Given the description of an element on the screen output the (x, y) to click on. 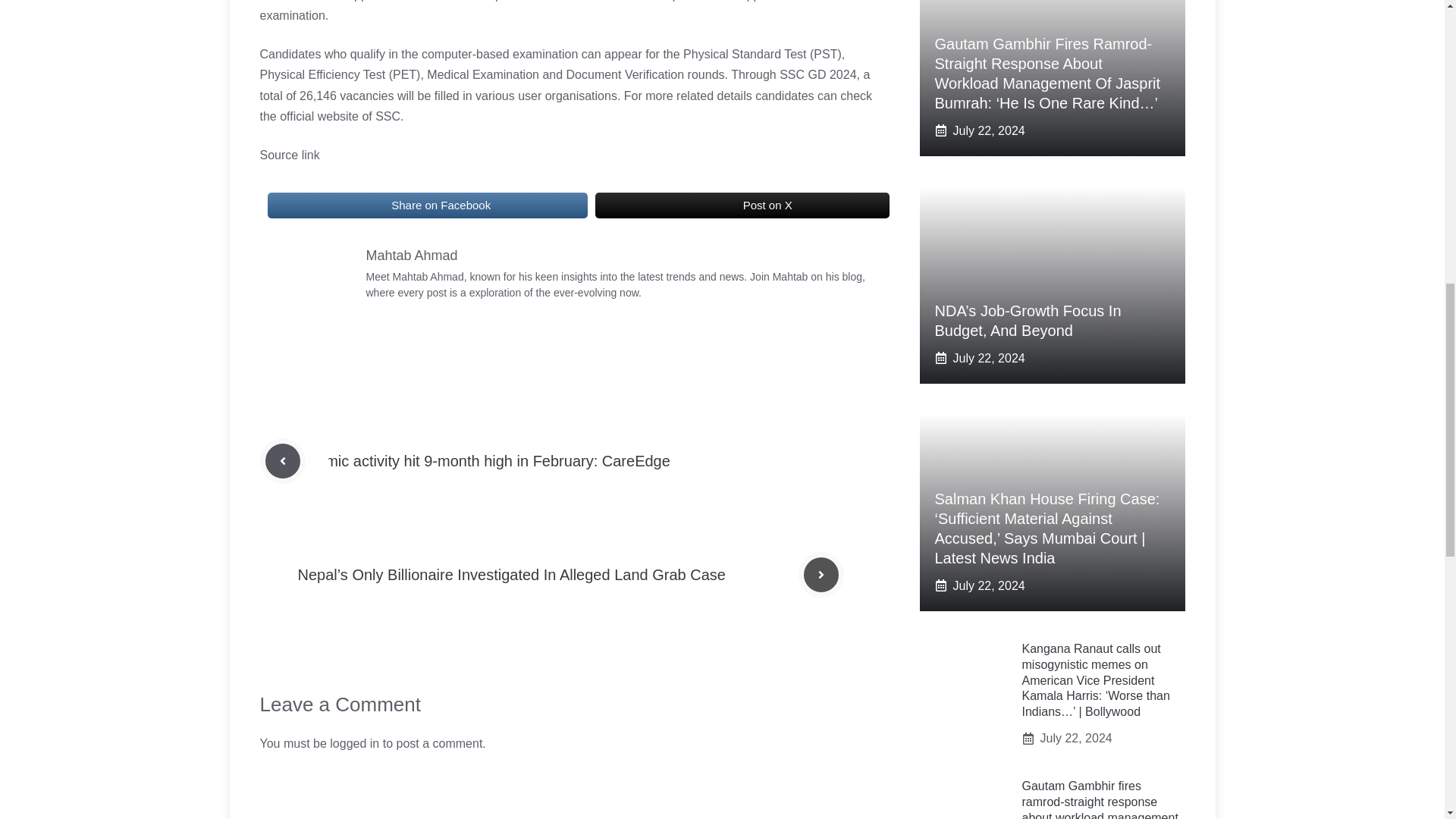
Economic activity hit 9-month high in February: CareEdge (475, 460)
Mahtab Ahmad (411, 255)
Share on Facebook (426, 205)
Source link (288, 154)
logged in (354, 743)
Post on X (742, 205)
